Given the description of an element on the screen output the (x, y) to click on. 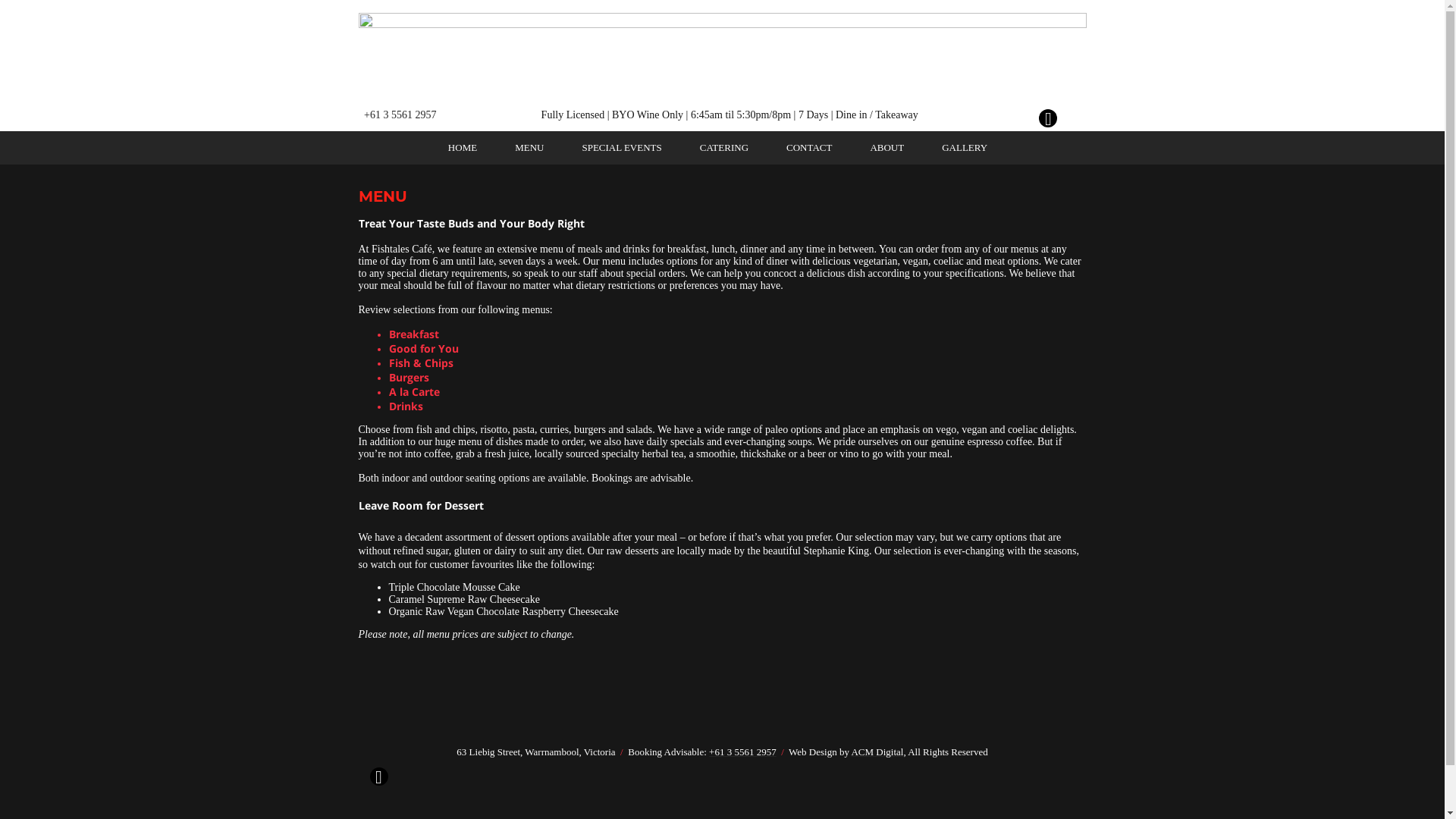
HOME Element type: text (462, 147)
SPECIAL EVENTS Element type: text (621, 147)
Fish & Chips Element type: text (420, 361)
MENU Element type: text (529, 147)
+61 3 5561 2957 Element type: text (400, 114)
A la Carte   Element type: text (416, 390)
GALLERY Element type: text (964, 147)
Breakfast Element type: text (413, 333)
ABOUT Element type: text (886, 147)
ACM Digital Element type: text (876, 751)
Drinks  Element type: text (406, 405)
CATERING Element type: text (724, 147)
+61 3 5561 2957 Element type: text (742, 751)
CONTACT Element type: text (808, 147)
Burgers Element type: text (408, 377)
